Given the description of an element on the screen output the (x, y) to click on. 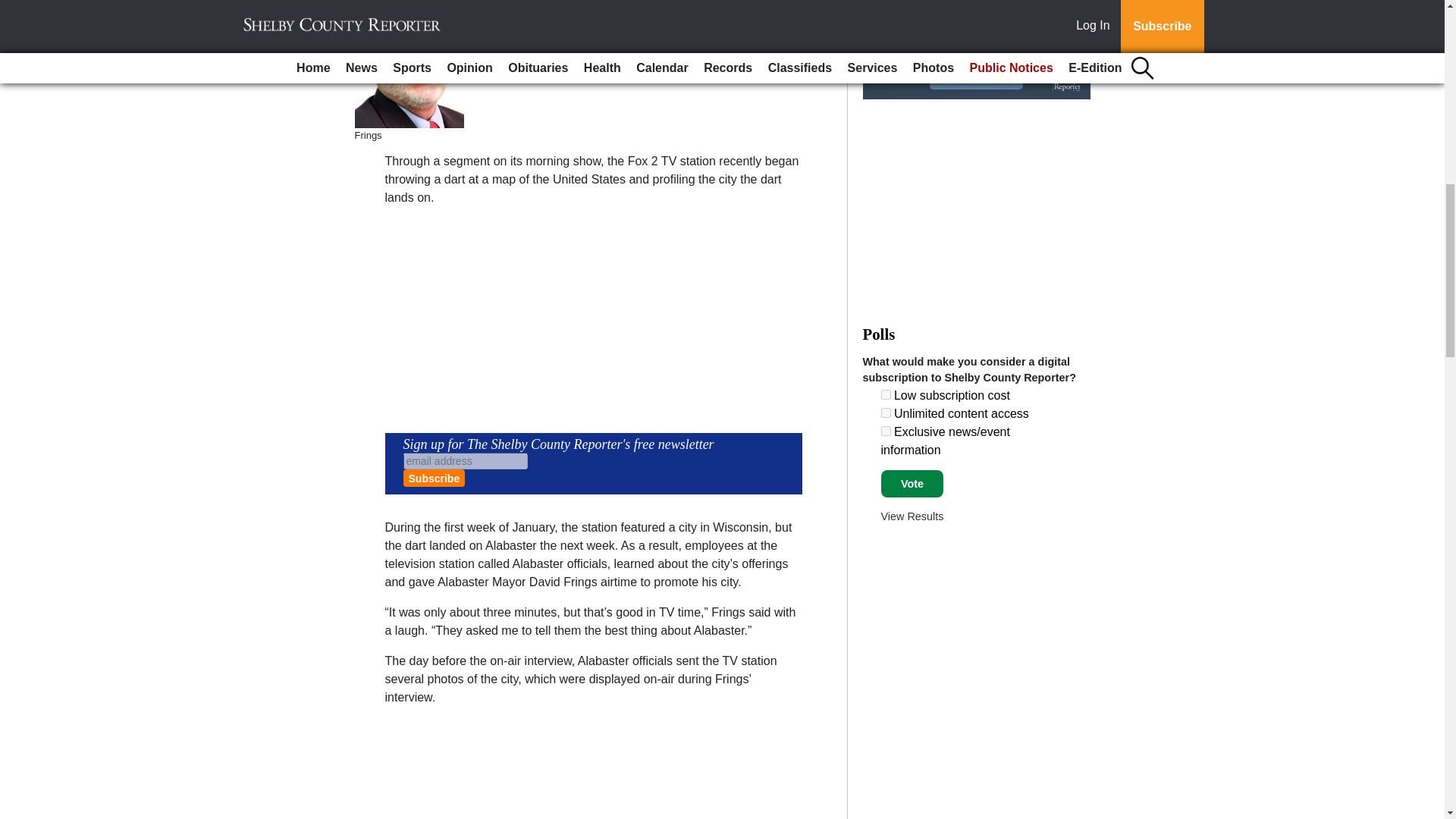
4636 (885, 394)
   Vote    (911, 483)
View Results Of This Poll (911, 516)
4638 (885, 430)
Subscribe (434, 477)
4637 (885, 412)
